Given the description of an element on the screen output the (x, y) to click on. 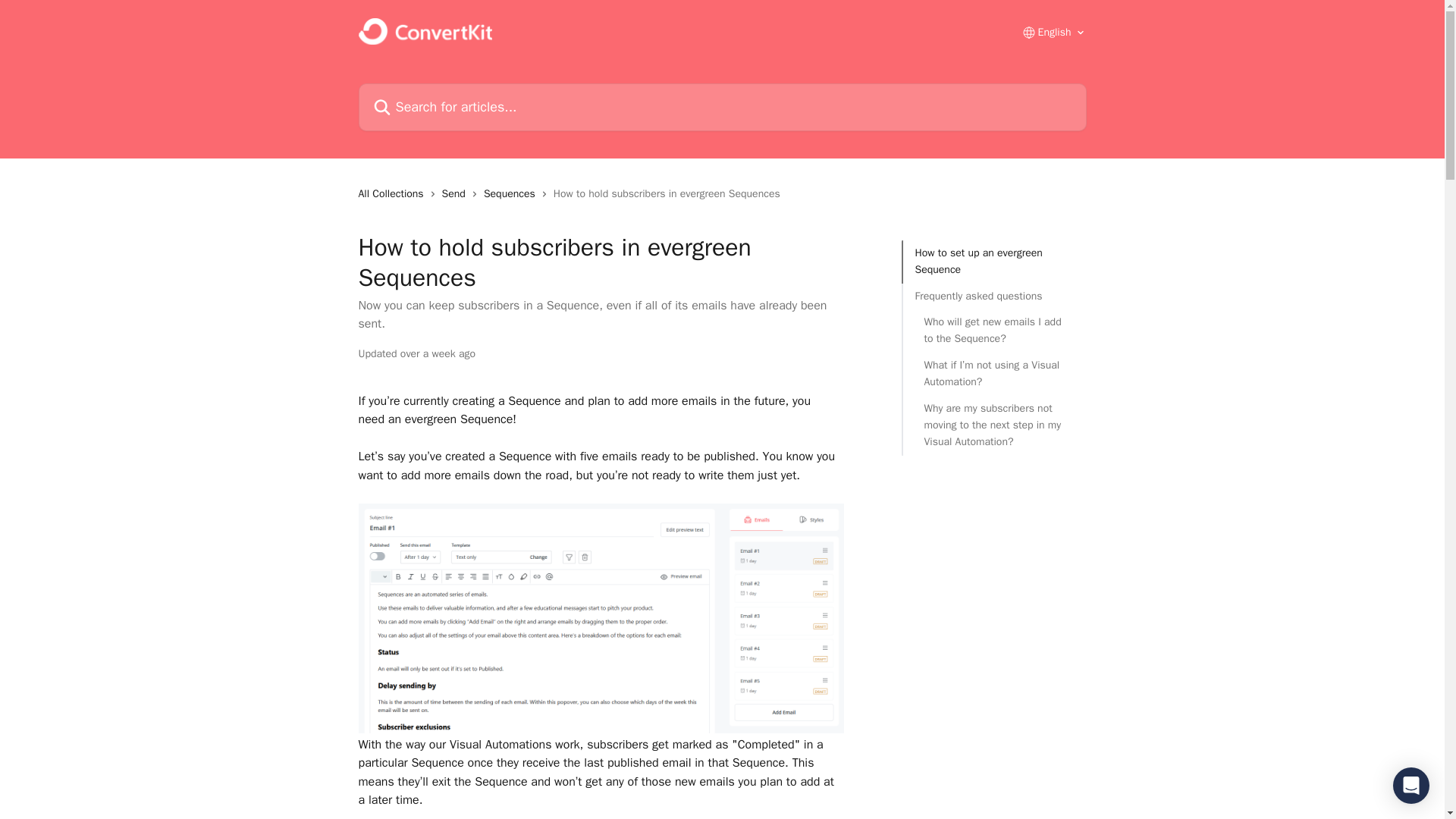
Frequently asked questions (994, 296)
Sequences (512, 193)
Send (456, 193)
How to set up an evergreen Sequence (994, 261)
Who will get new emails I add to the Sequence? (993, 330)
All Collections (393, 193)
